Given the description of an element on the screen output the (x, y) to click on. 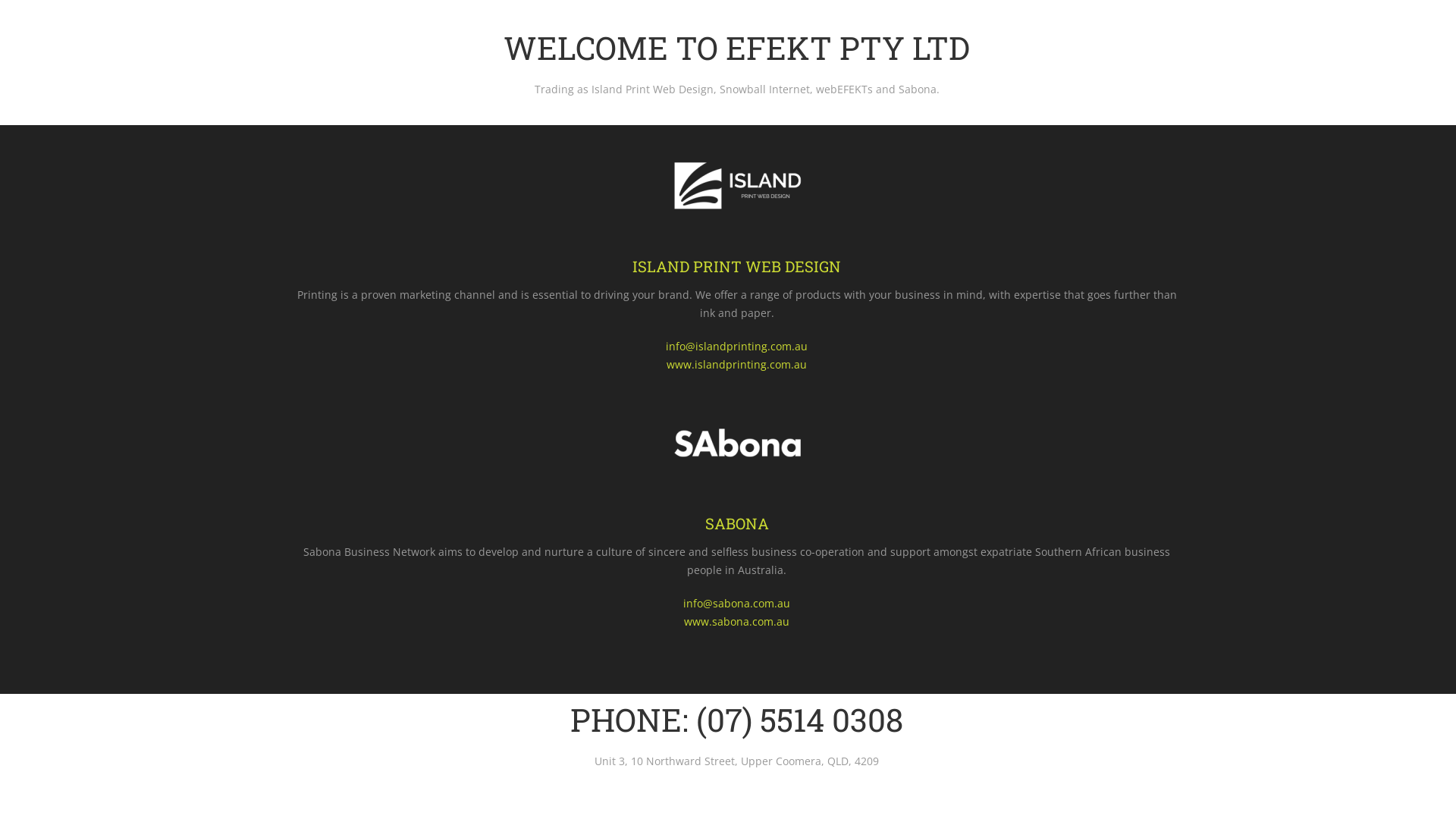
sabona-logo Element type: hover (736, 442)
info@sabona.com.au Element type: text (736, 603)
www.sabona.com.au Element type: text (736, 621)
www.islandprinting.com.au Element type: text (736, 364)
island-printing-logo Element type: hover (736, 185)
info@islandprinting.com.au Element type: text (736, 345)
